Given the description of an element on the screen output the (x, y) to click on. 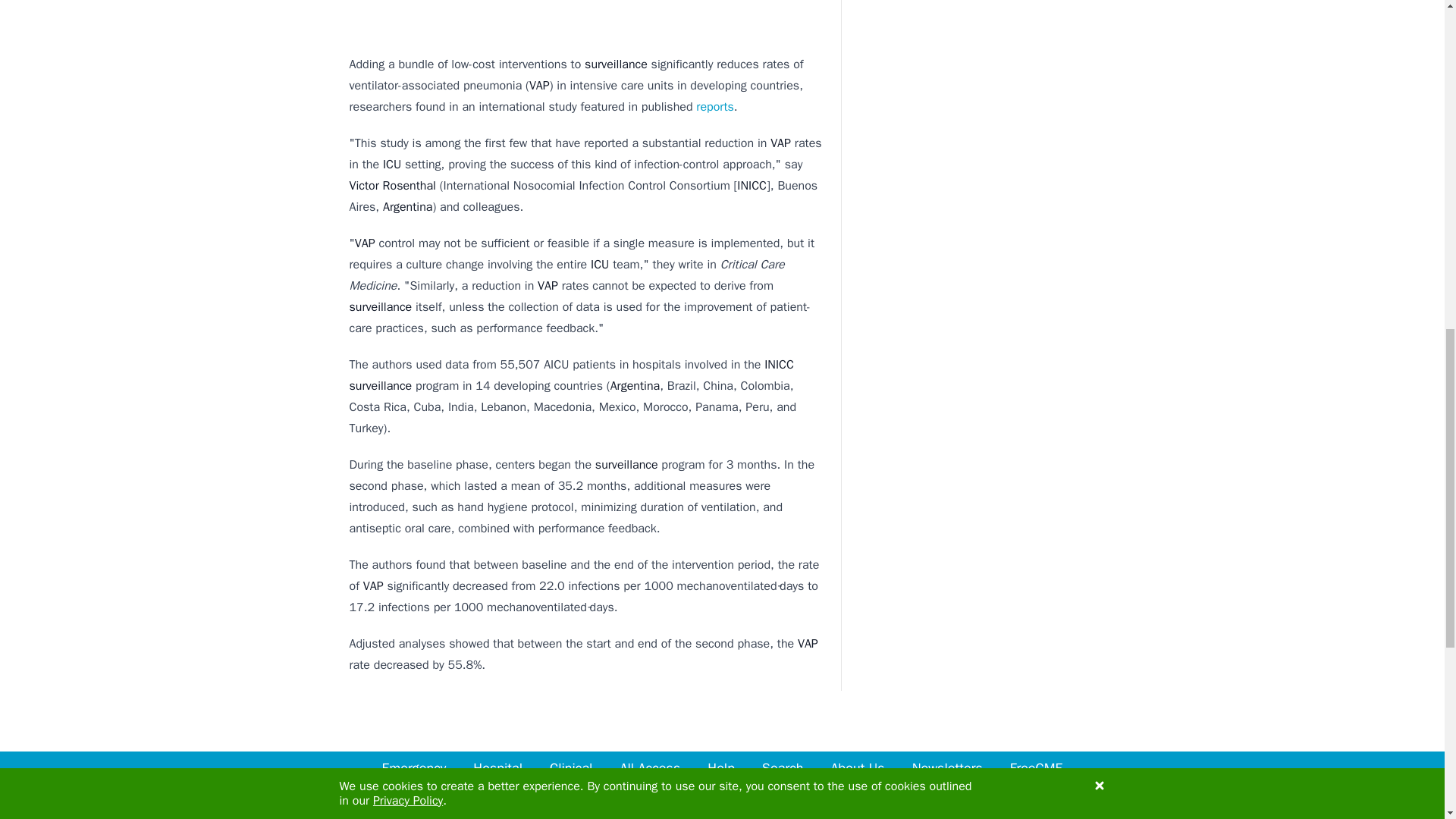
imagesCASTLCNX (587, 14)
reports (713, 106)
